Given the description of an element on the screen output the (x, y) to click on. 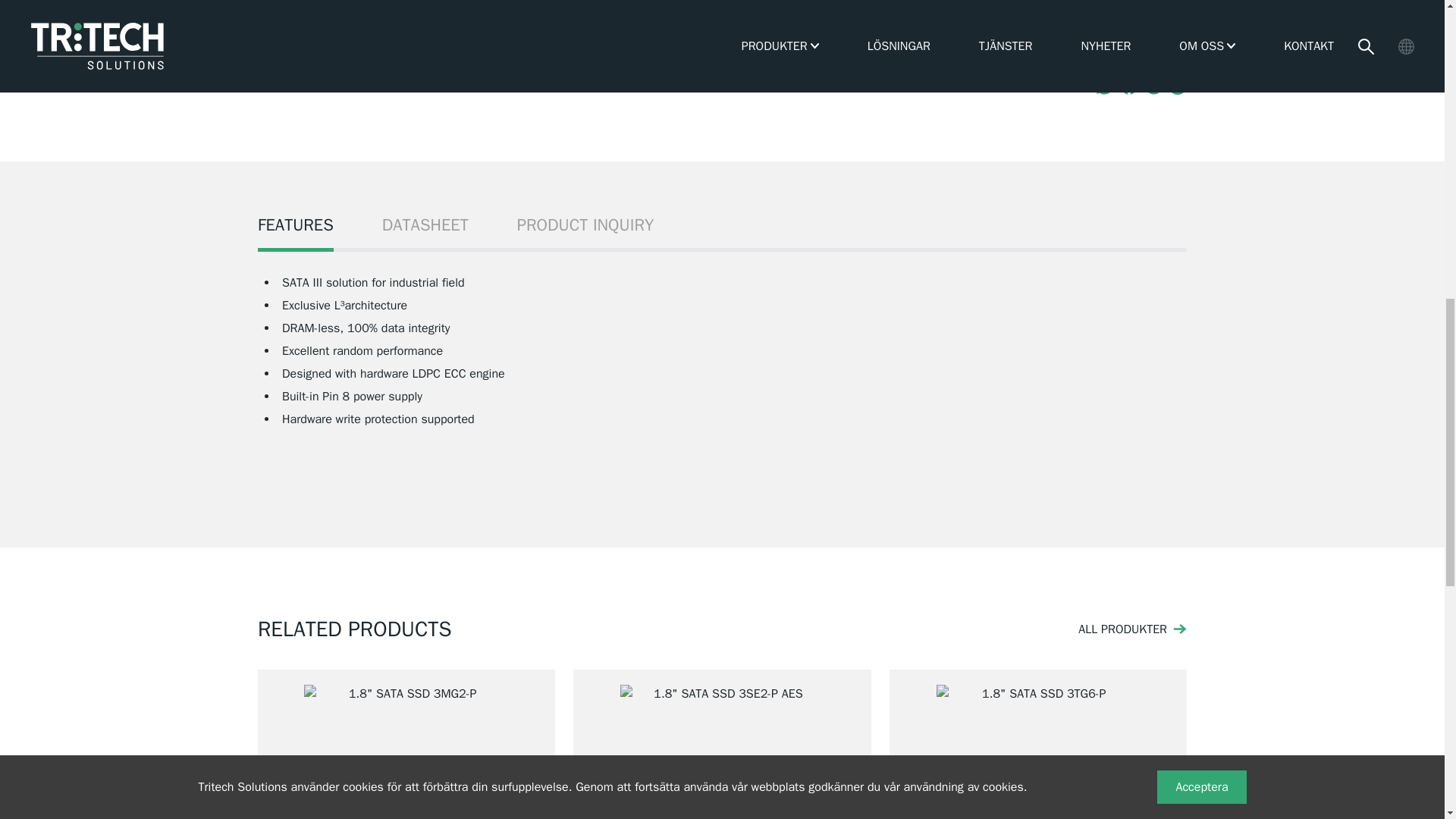
Innodisk (890, 0)
Facebook (1128, 85)
Email (1177, 85)
PRODUCT INQUIRY (584, 232)
Twitter (1152, 85)
FEATURES (295, 232)
1.8" SATA SSD 3MG2-P (405, 744)
Whatsapp (1104, 85)
DATASHEET (424, 232)
ALL PRODUKTER (1132, 629)
